Given the description of an element on the screen output the (x, y) to click on. 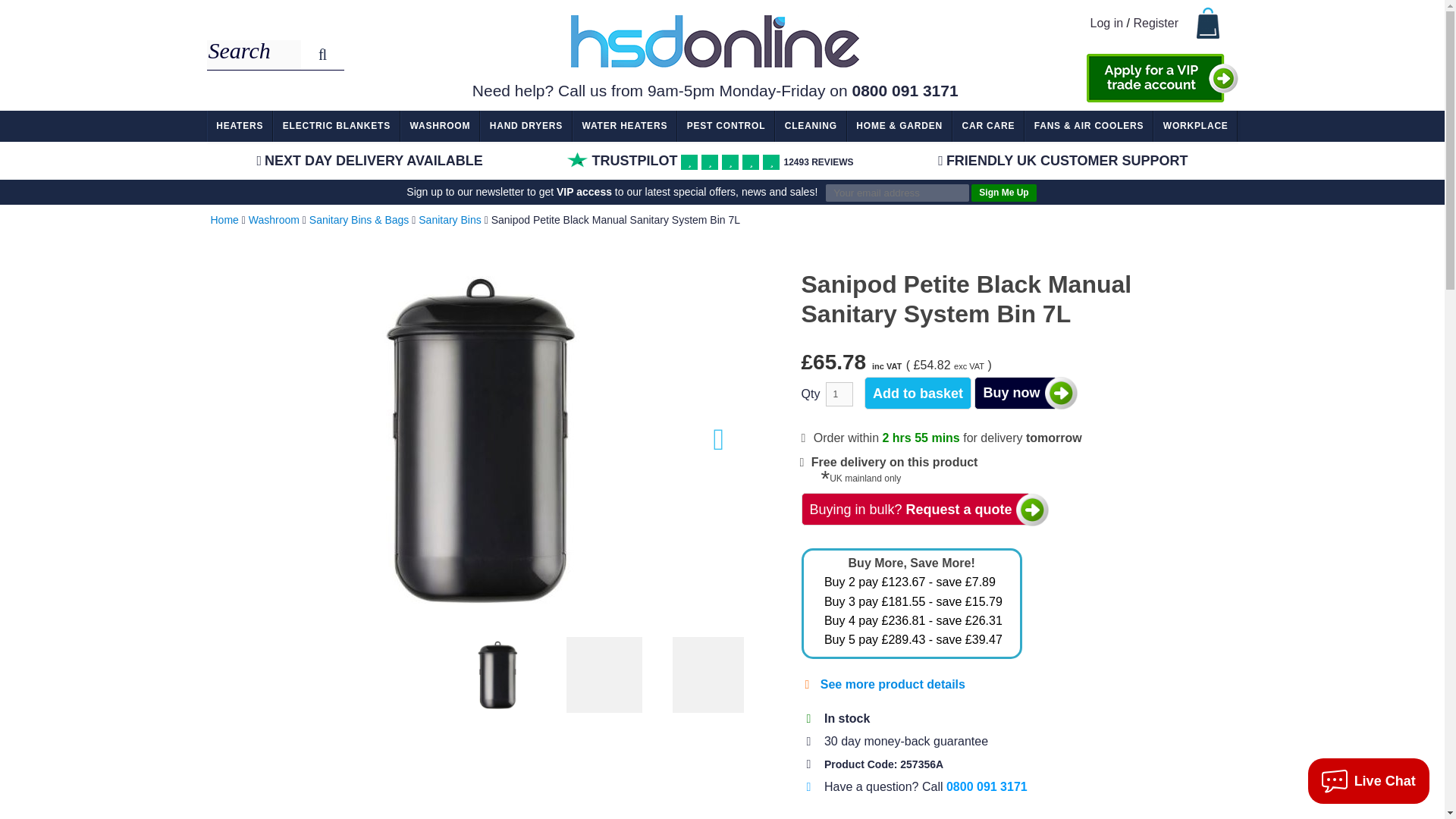
Sign Me Up (1003, 192)
Add to basket (917, 392)
Buy now (1015, 392)
Home (224, 219)
HEATERS (239, 126)
Open a trade account (1161, 78)
Register (1154, 22)
ELECTRIC BLANKETS (336, 126)
1 (839, 394)
Log in (1107, 22)
Trustpilot (577, 159)
